Given the description of an element on the screen output the (x, y) to click on. 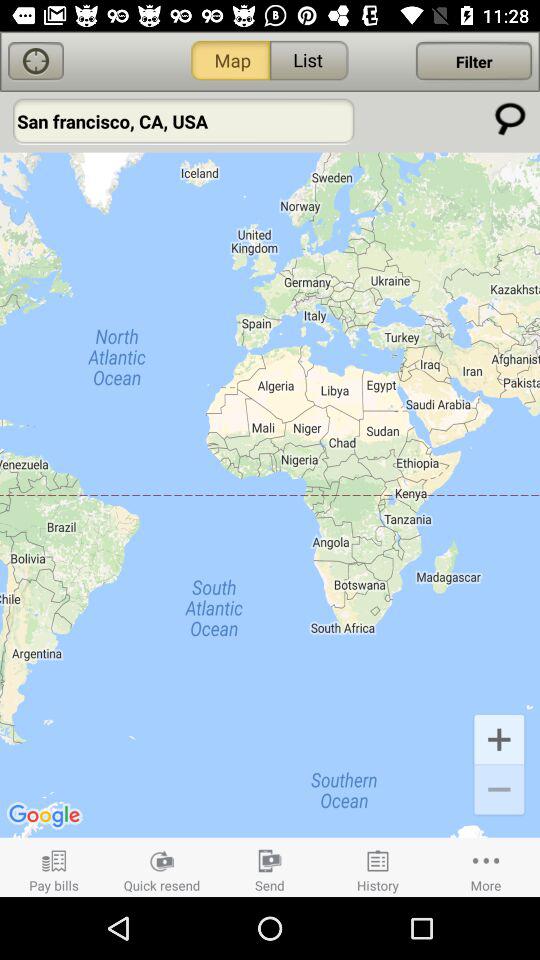
execute keyword search (509, 118)
